Given the description of an element on the screen output the (x, y) to click on. 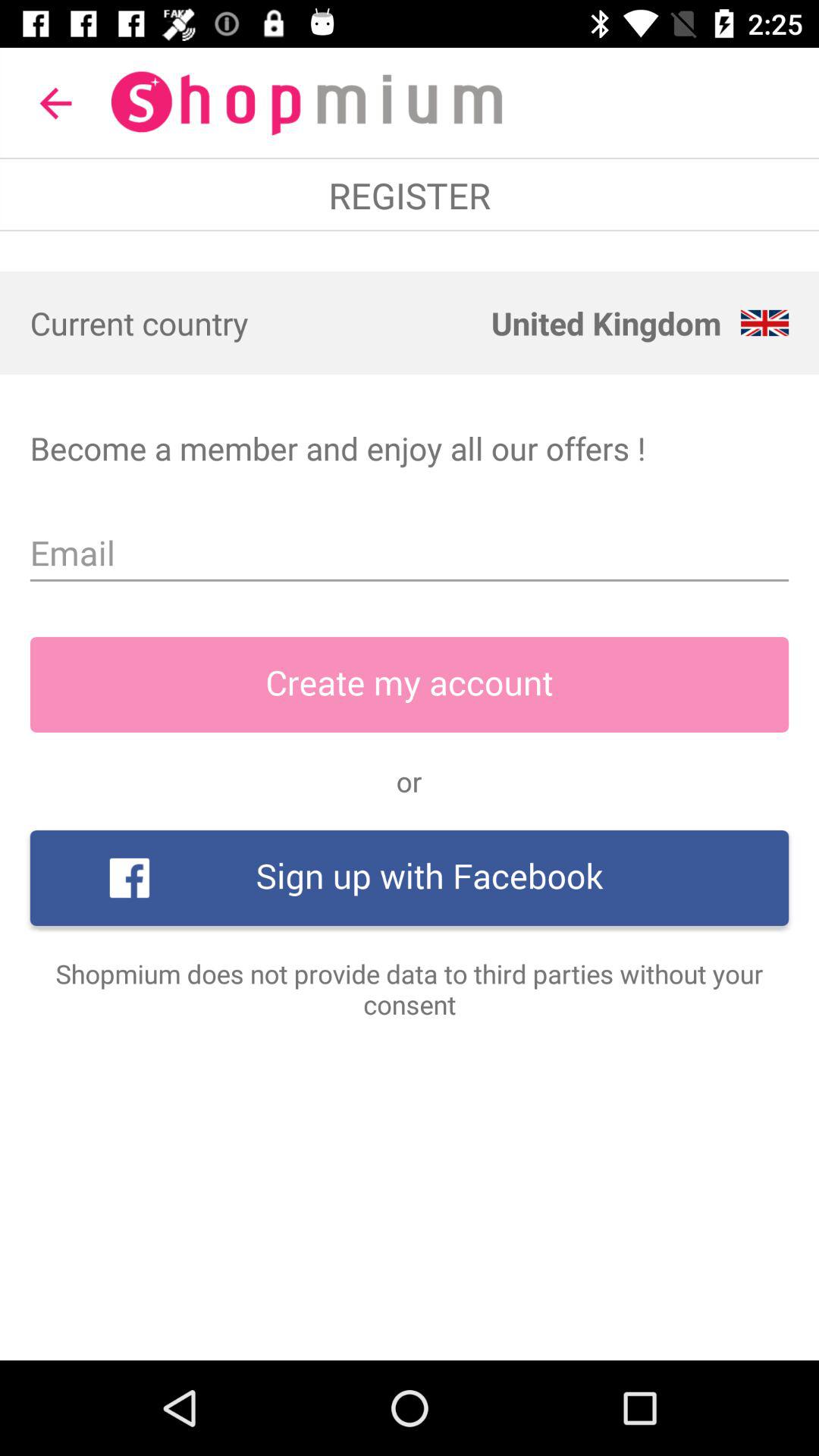
choose the sign up with item (409, 877)
